Given the description of an element on the screen output the (x, y) to click on. 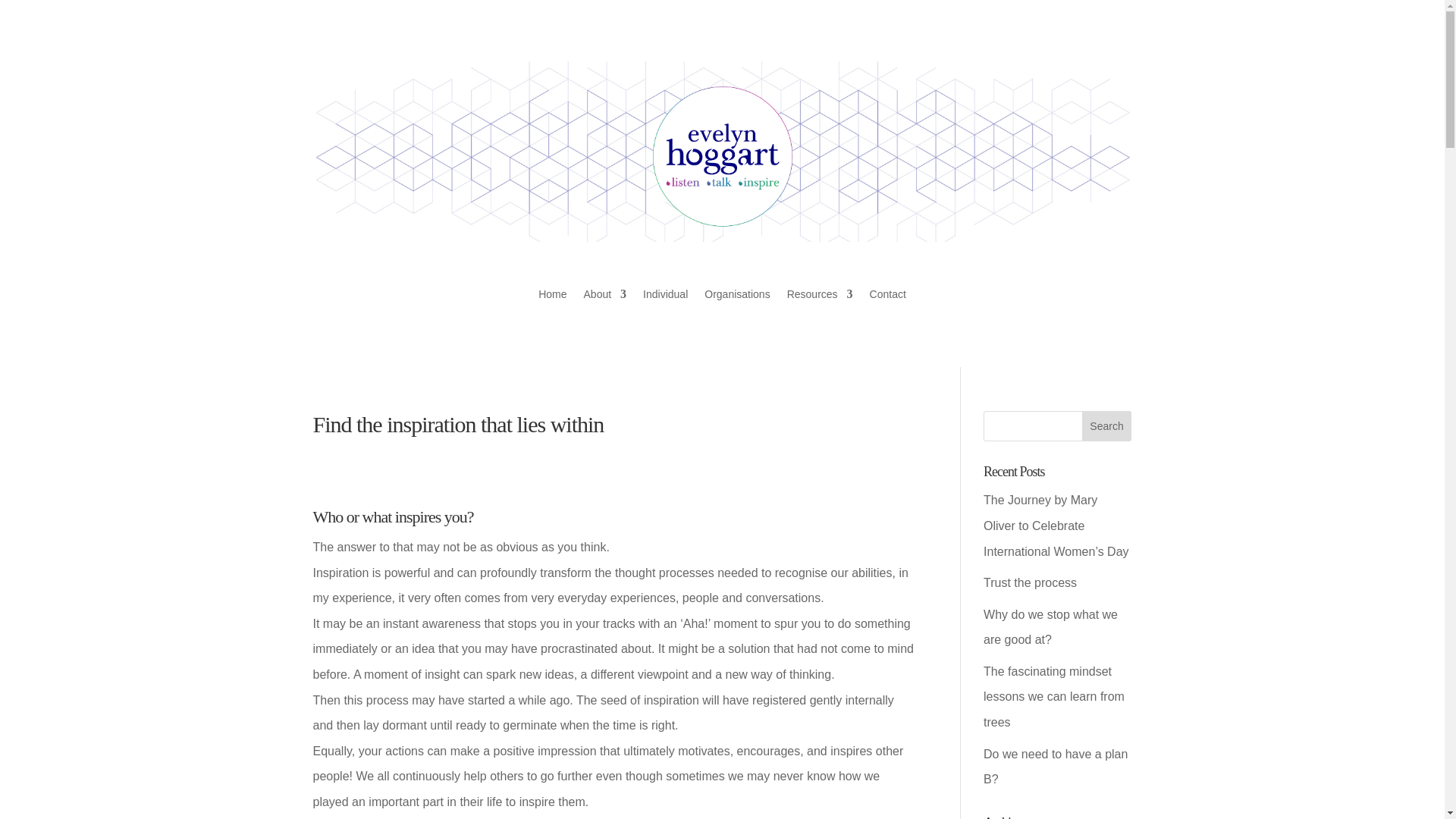
Organisations (737, 297)
Why do we stop what we are good at? (1051, 627)
Individual (665, 297)
The fascinating mindset lessons we can learn from trees (1054, 696)
Contact (887, 297)
Trust the process (1030, 582)
Search (1106, 426)
Do we need to have a plan B? (1055, 766)
Home (552, 297)
